Given the description of an element on the screen output the (x, y) to click on. 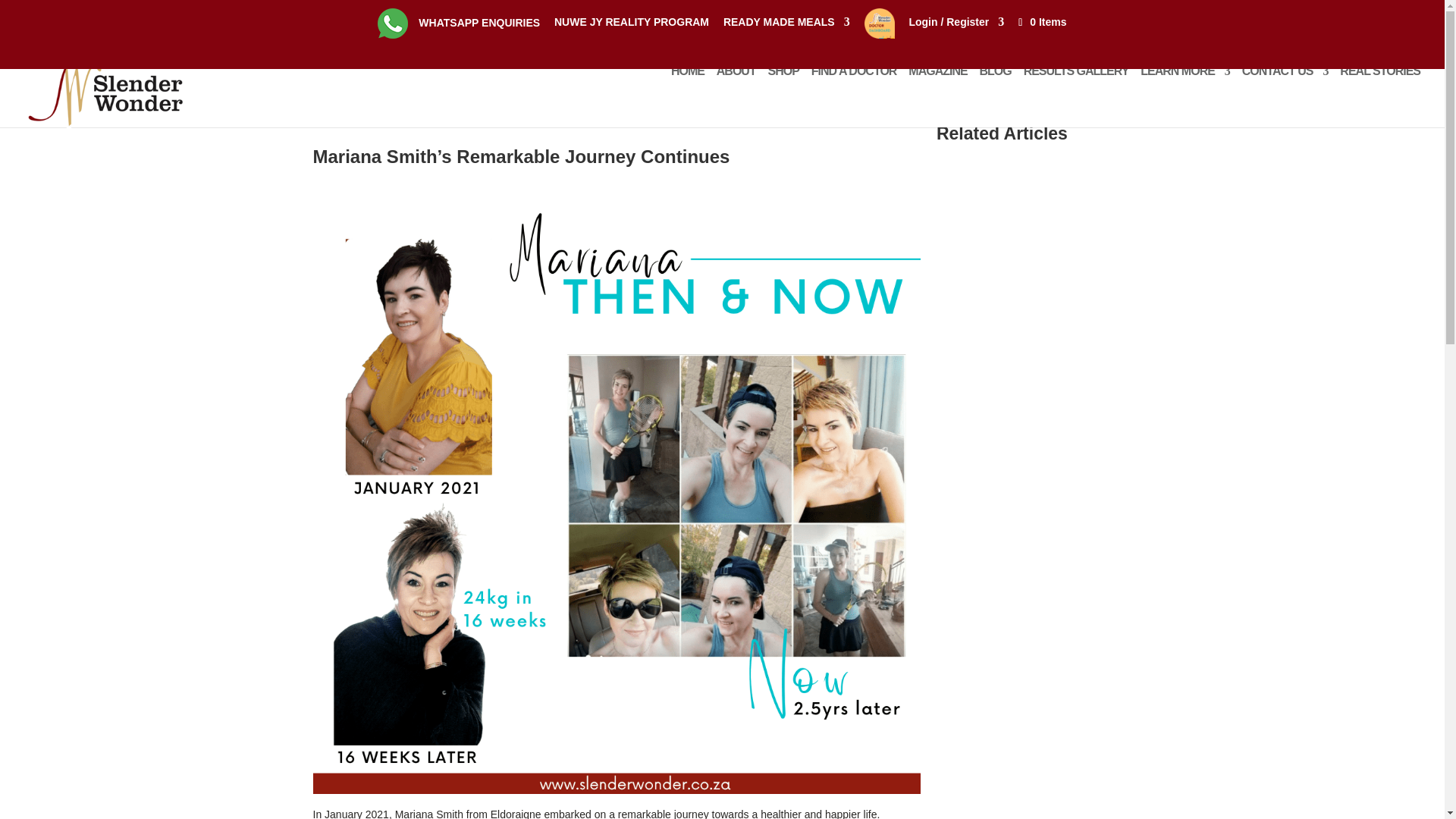
RESULTS GALLERY (1076, 85)
READY MADE MEALS (786, 26)
ABOUT (735, 85)
CONTACT US (1284, 85)
0 Items (1039, 21)
FIND A DOCTOR (853, 85)
REAL STORIES (1380, 85)
LEARN MORE (1185, 85)
MAGAZINE (937, 85)
NUWE JY REALITY PROGRAM (631, 26)
WHATSAPP ENQUIRIES (458, 26)
